Given the description of an element on the screen output the (x, y) to click on. 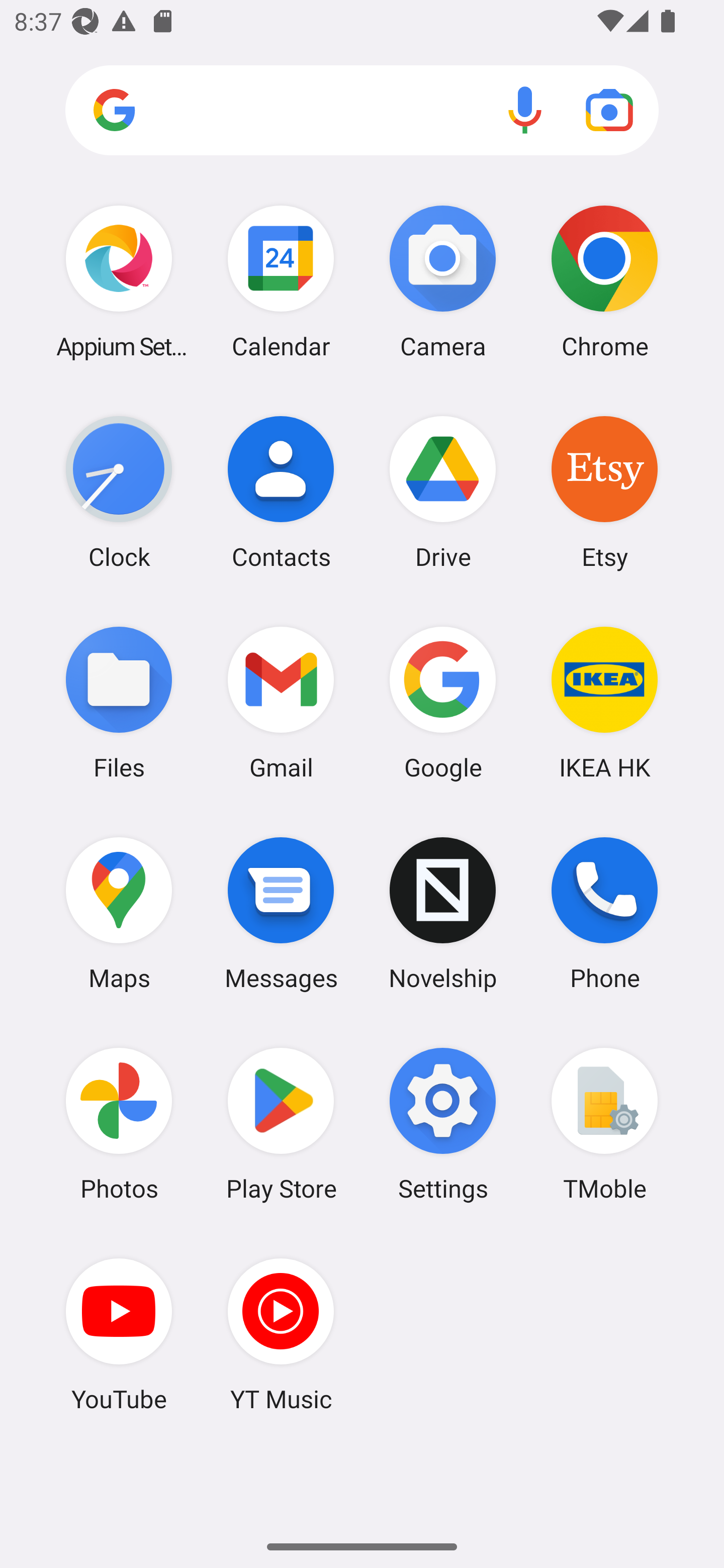
Search apps, web and more (361, 110)
Voice search (524, 109)
Google Lens (608, 109)
Appium Settings (118, 281)
Calendar (280, 281)
Camera (443, 281)
Chrome (604, 281)
Clock (118, 492)
Contacts (280, 492)
Drive (443, 492)
Etsy (604, 492)
Files (118, 702)
Gmail (280, 702)
Google (443, 702)
IKEA HK (604, 702)
Maps (118, 913)
Messages (280, 913)
Novelship (443, 913)
Phone (604, 913)
Photos (118, 1124)
Play Store (280, 1124)
Settings (443, 1124)
TMoble (604, 1124)
YouTube (118, 1334)
YT Music (280, 1334)
